Given the description of an element on the screen output the (x, y) to click on. 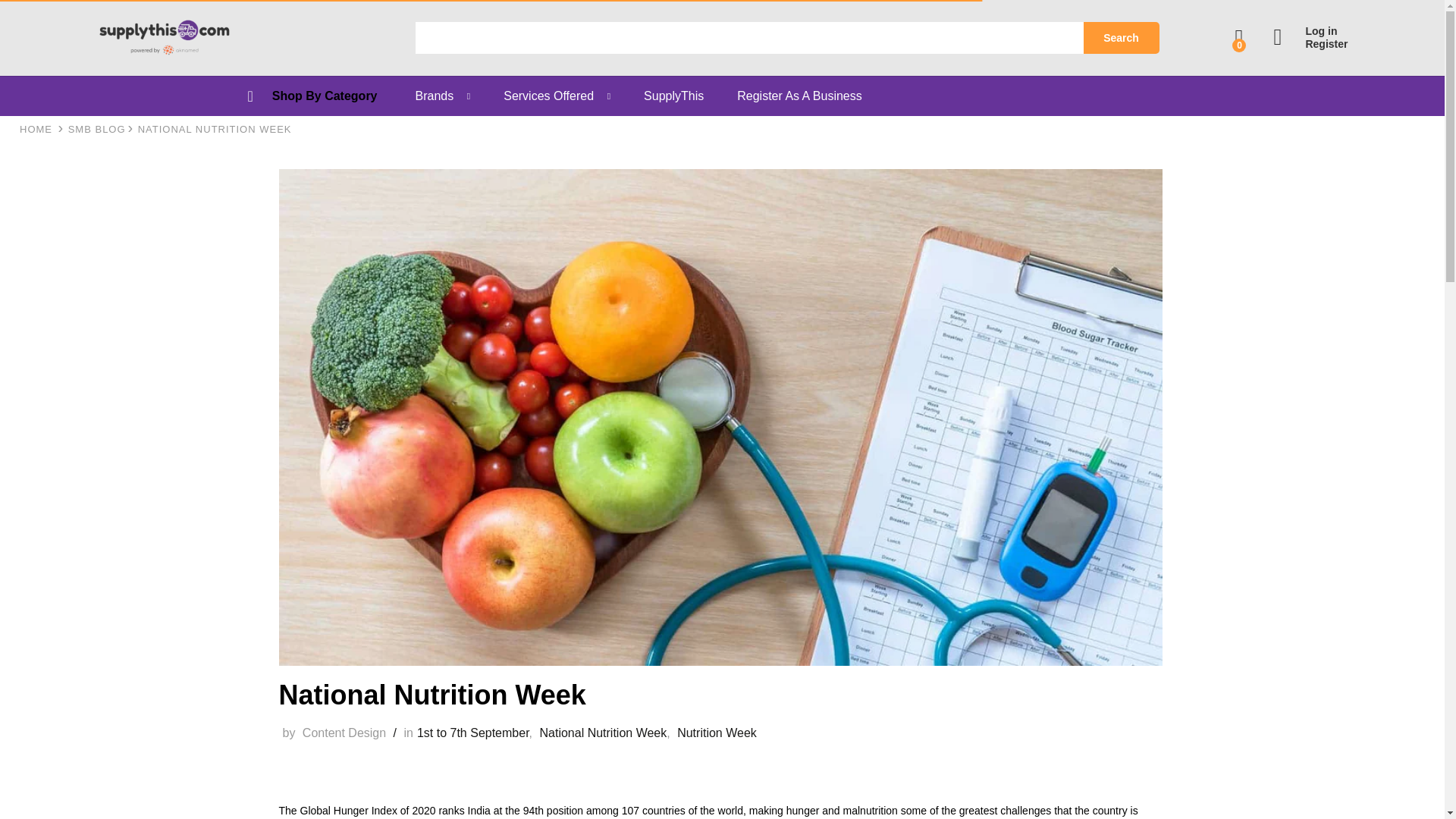
Shop By Category (324, 95)
Register (1310, 43)
search (748, 38)
Log in (1310, 31)
Search (1120, 38)
Supply This (36, 129)
